Given the description of an element on the screen output the (x, y) to click on. 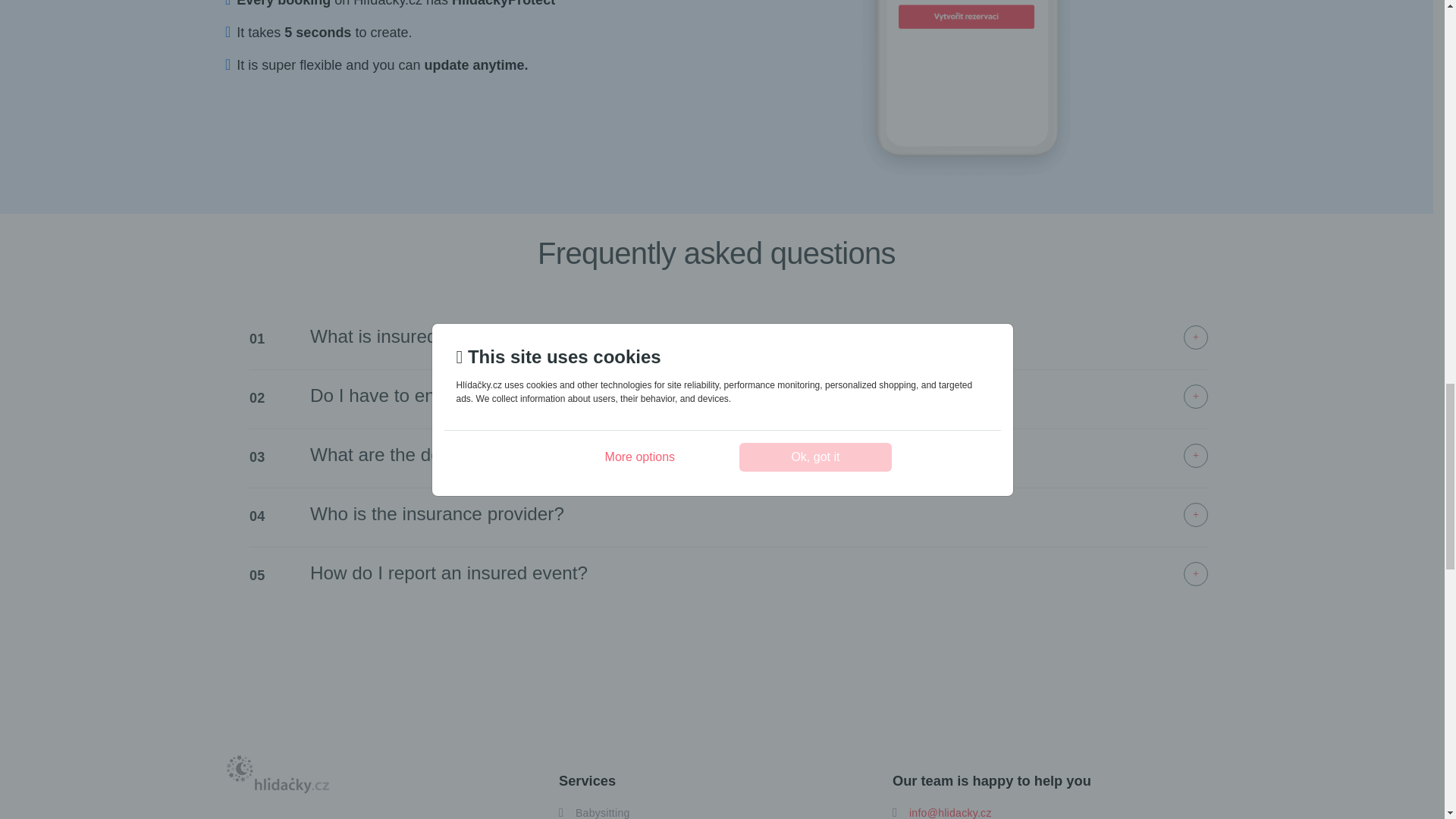
How do I report an insured event? (759, 573)
Do I have to enter data about children now? (759, 396)
What are the detailed insurance conditions? (759, 455)
What is insured? (759, 337)
Who is the insurance provider? (759, 514)
